Given the description of an element on the screen output the (x, y) to click on. 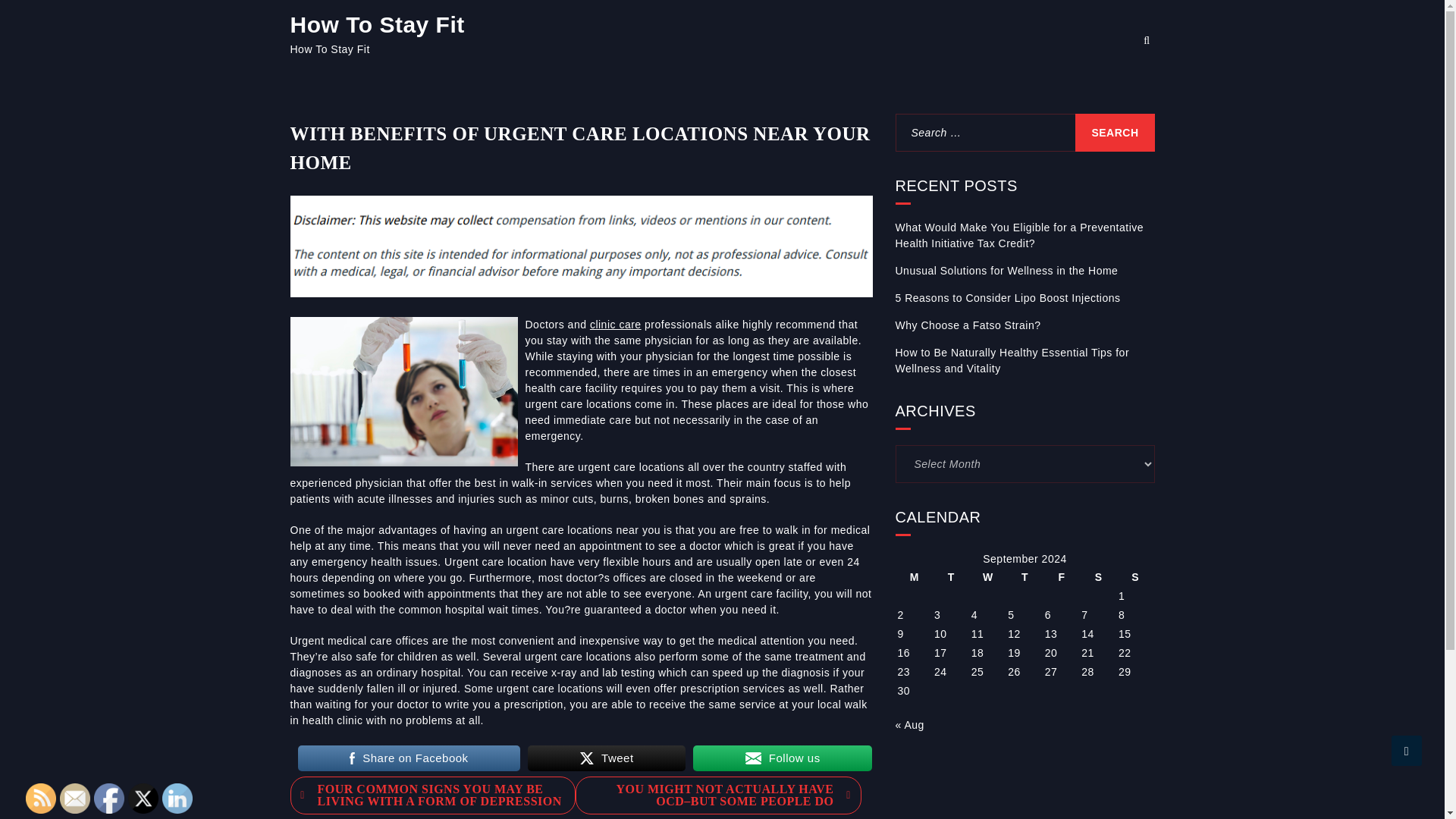
For more about Upmc urgent care (615, 324)
Tuesday (951, 577)
Monday (913, 577)
Unusual Solutions for Wellness in the Home (1006, 270)
clinic care (615, 324)
Friday (1061, 577)
Why Choose a Fatso Strain? (968, 325)
Search (39, 18)
Go to Top (1406, 750)
How To Stay Fit (376, 24)
